Given the description of an element on the screen output the (x, y) to click on. 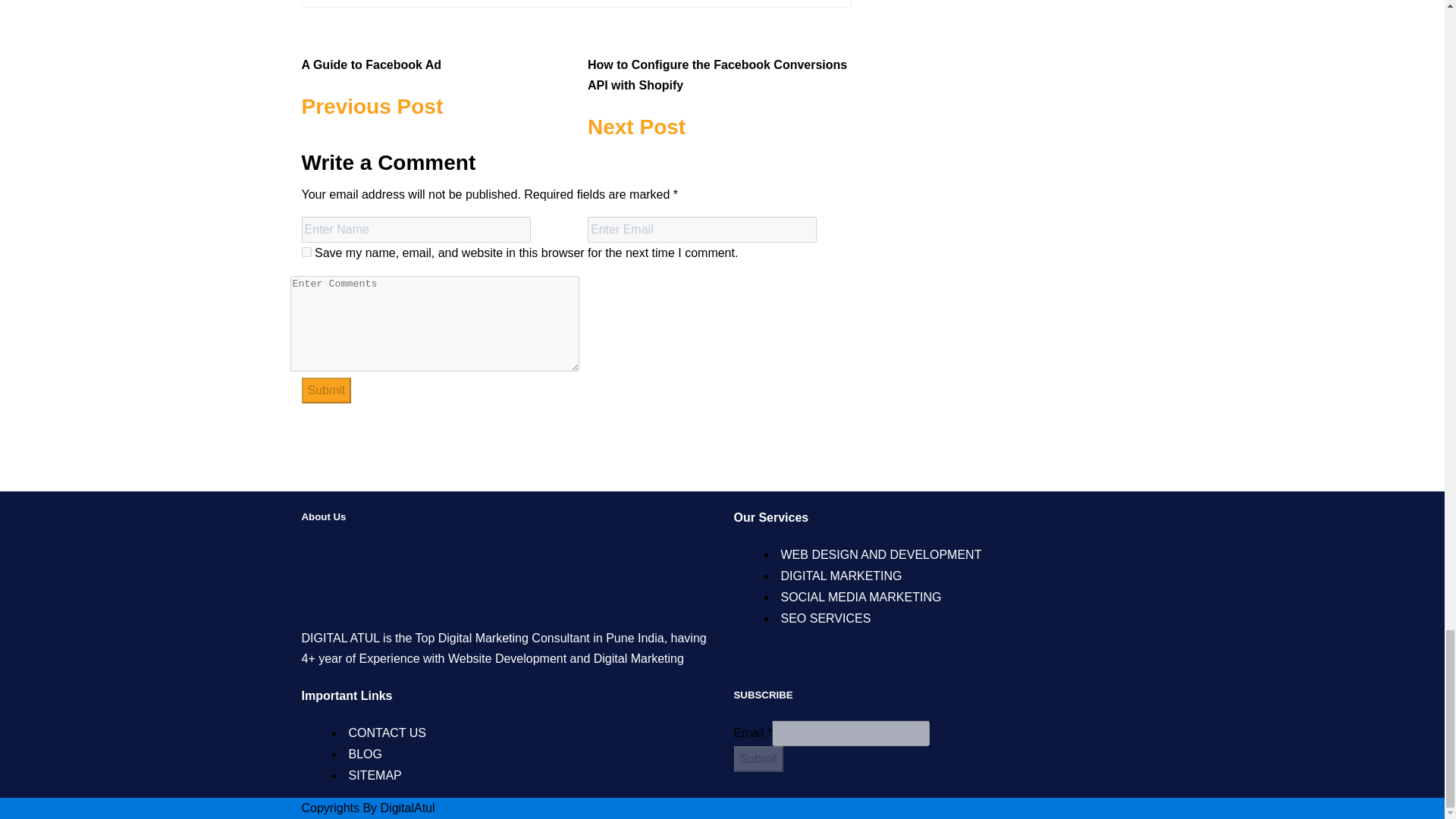
Submit (326, 390)
yes (306, 252)
Submit (433, 78)
